Given the description of an element on the screen output the (x, y) to click on. 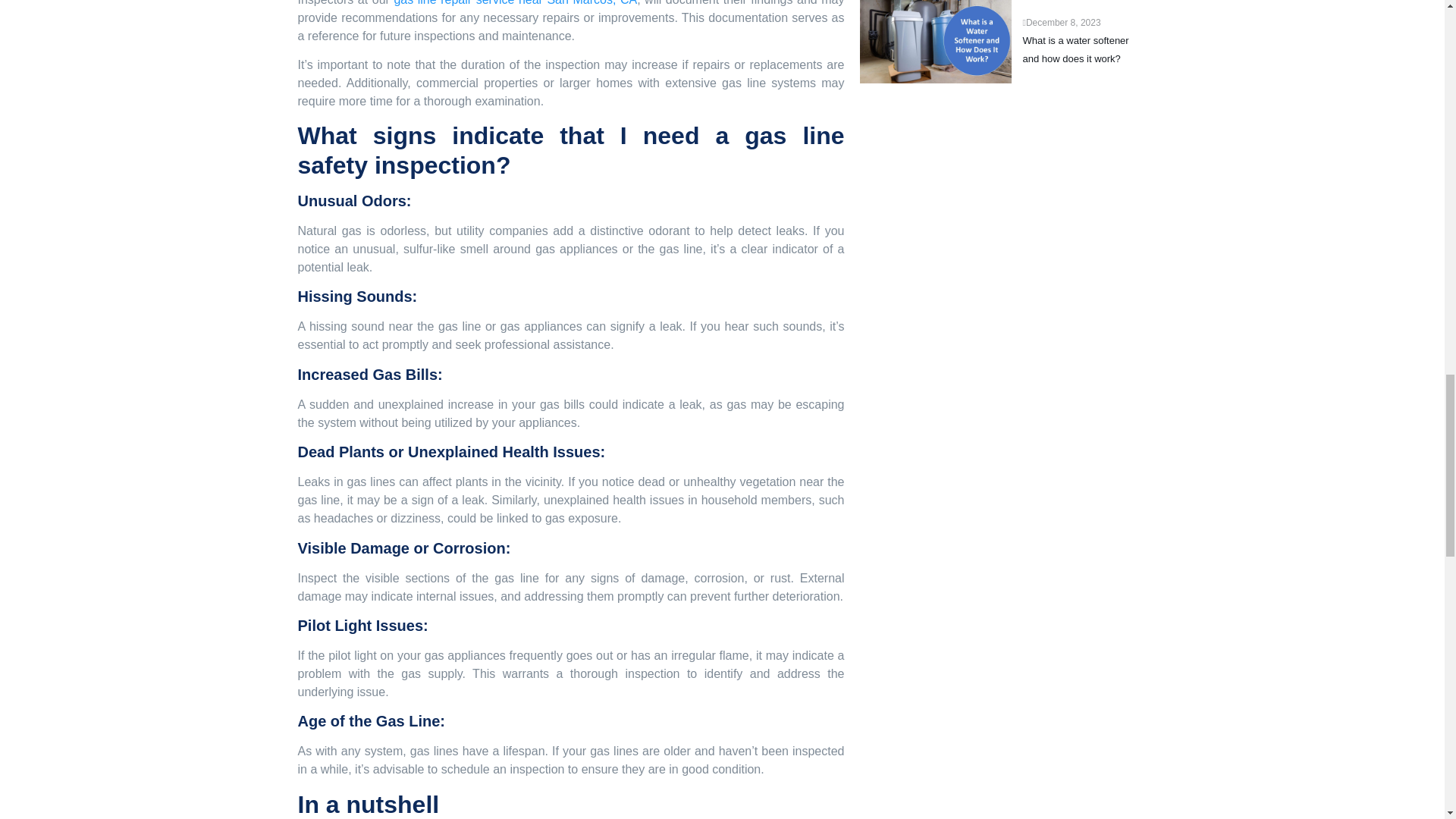
gas line repair service near San Marcos, CA (515, 2)
